Given the description of an element on the screen output the (x, y) to click on. 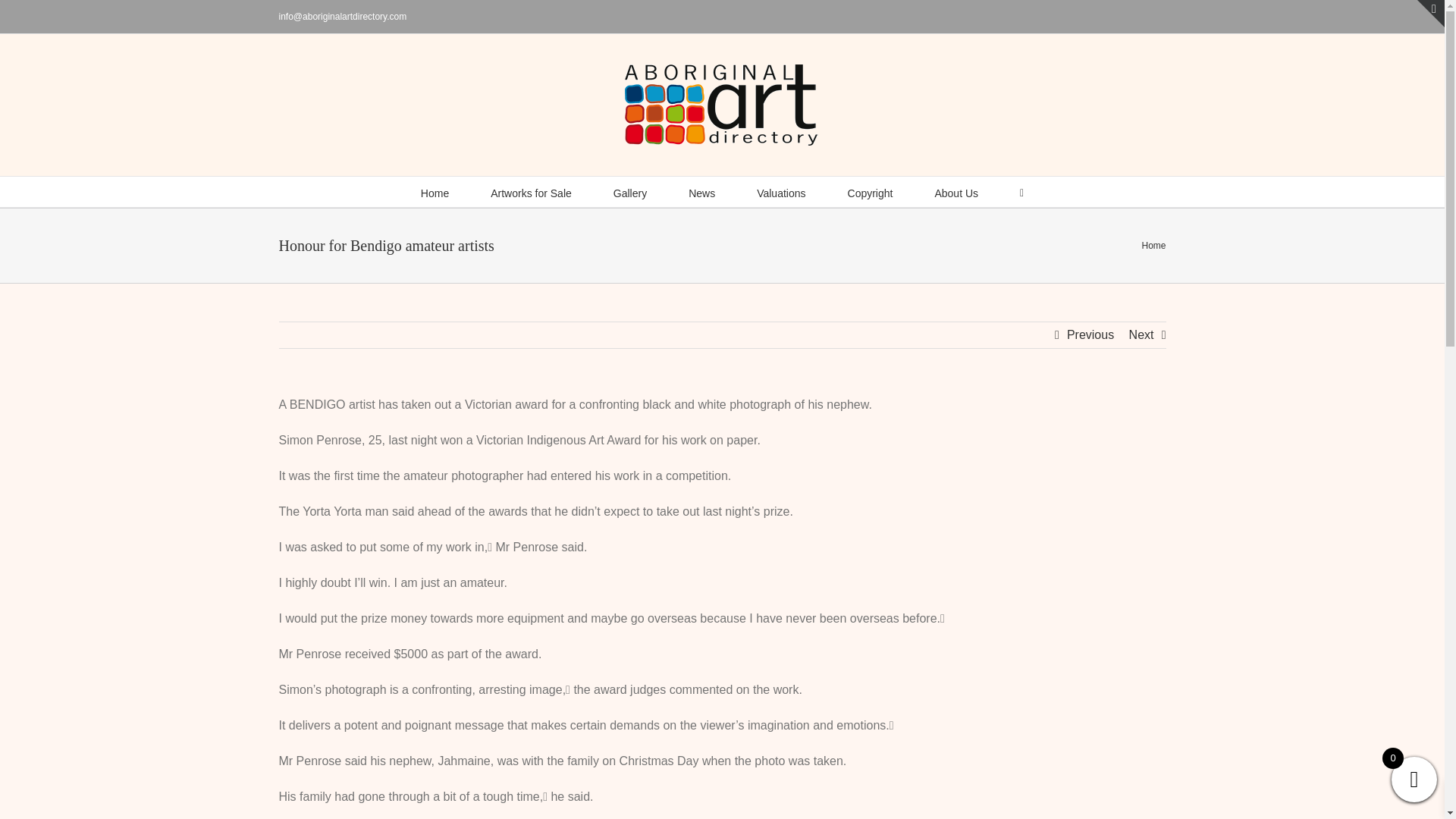
Gallery (629, 191)
Valuations (781, 191)
Home (434, 191)
Artworks for Sale (531, 191)
Copyright (870, 191)
About Us (956, 191)
